Given the description of an element on the screen output the (x, y) to click on. 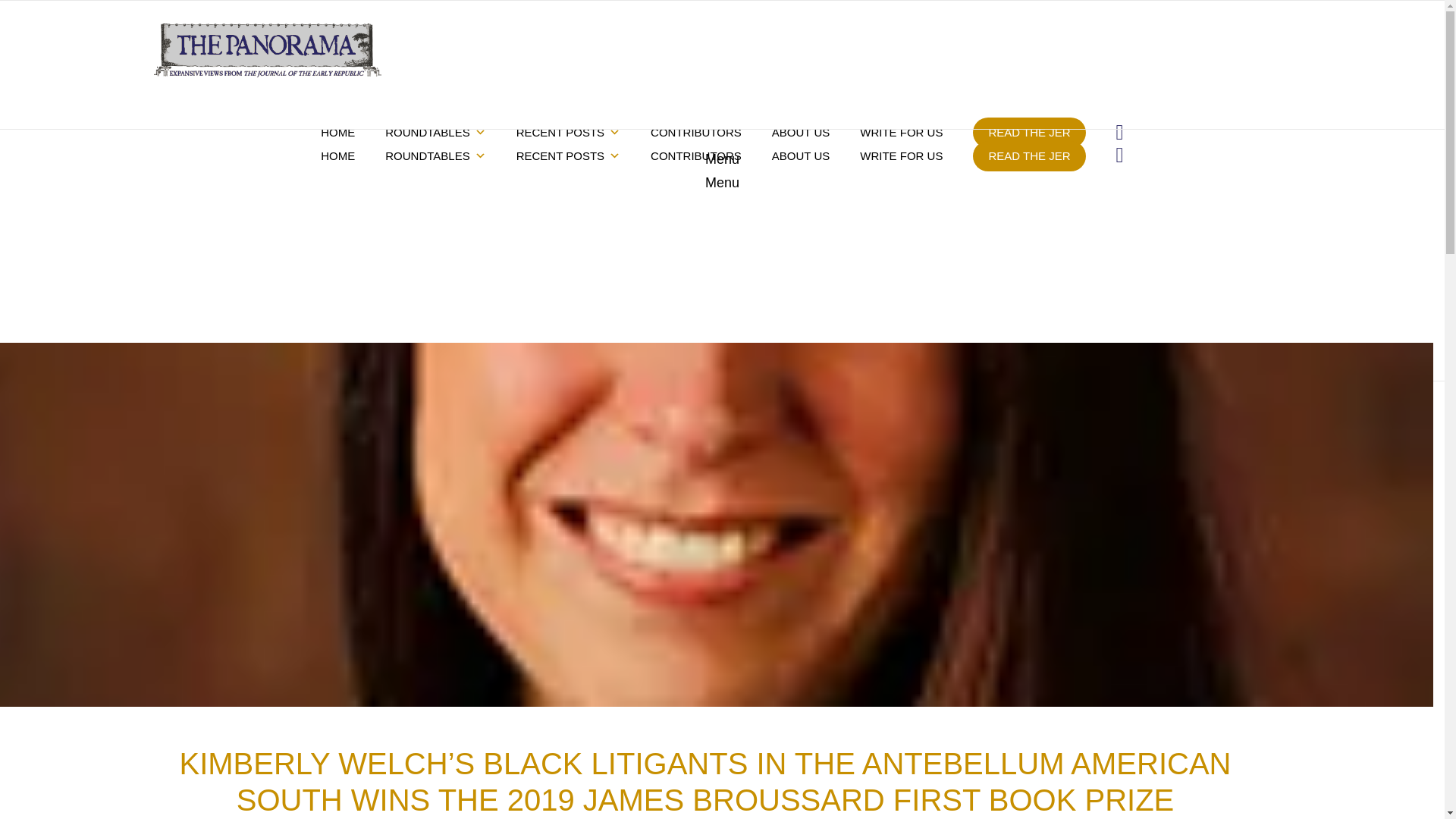
ROUNDTABLES (434, 132)
HOME (337, 132)
panoheader1206 (266, 49)
RECENT POSTS (567, 132)
